Given the description of an element on the screen output the (x, y) to click on. 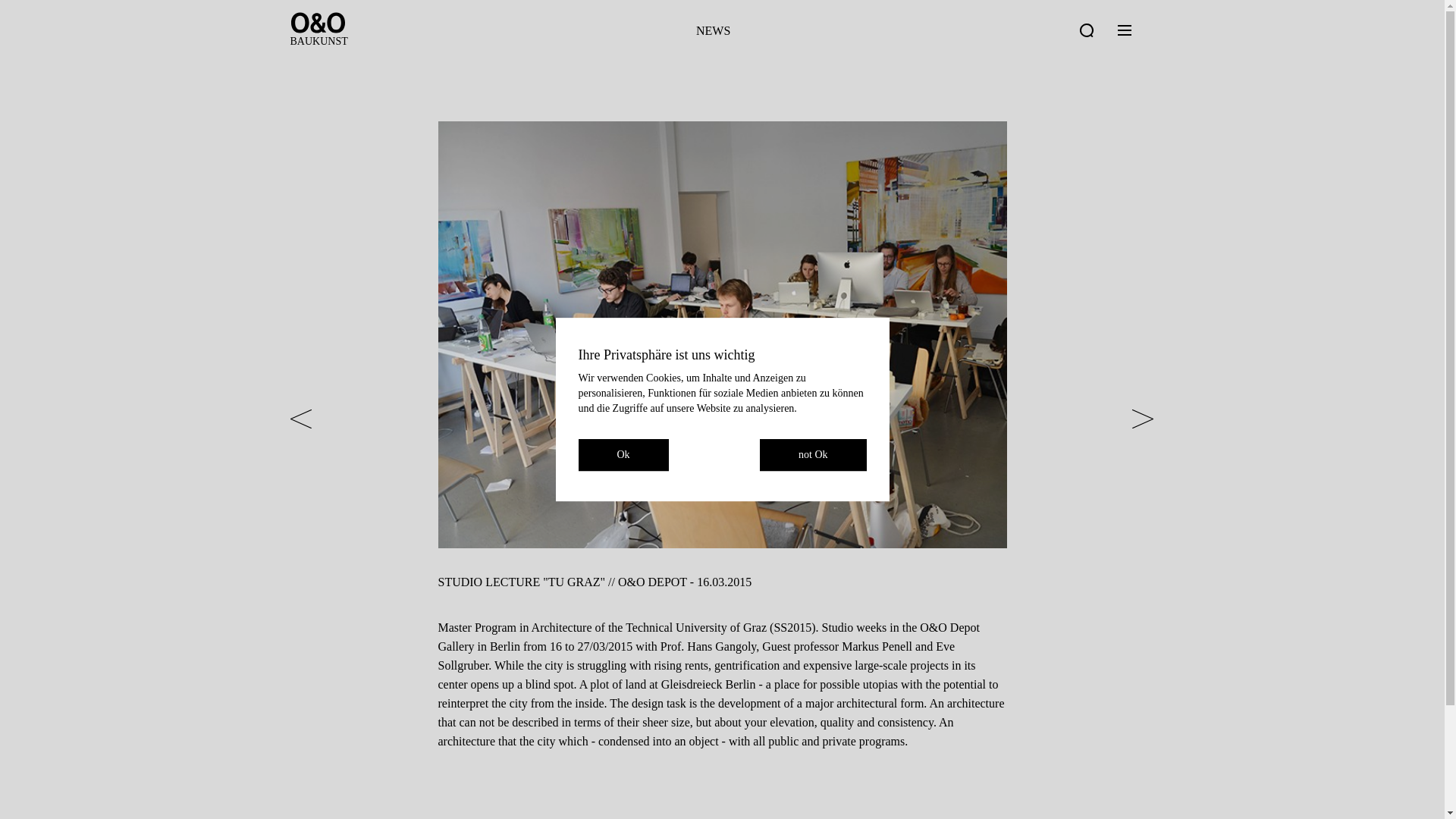
Mwnu (1123, 29)
Search (1085, 29)
BAUKUNST (318, 41)
NEWS (712, 30)
